Given the description of an element on the screen output the (x, y) to click on. 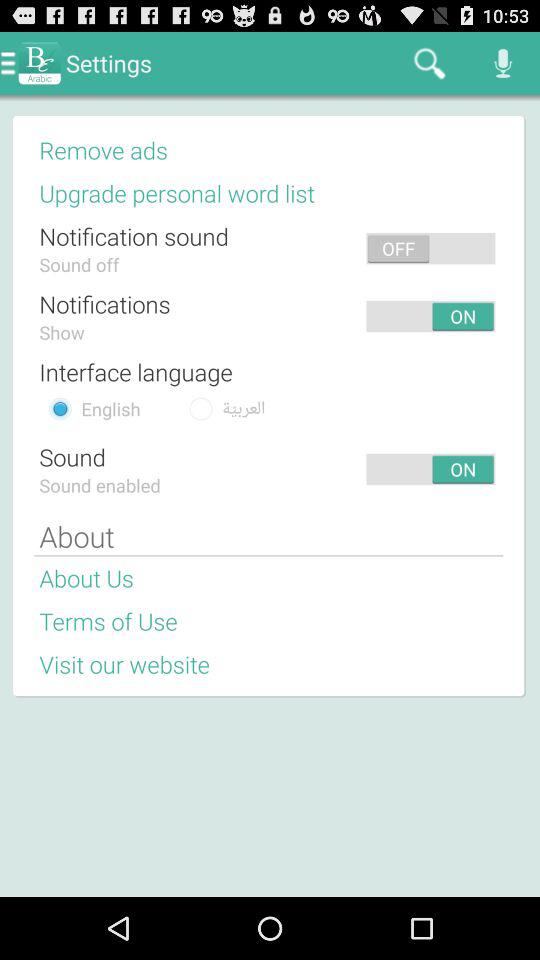
open app next to the visit our website item (359, 664)
